Given the description of an element on the screen output the (x, y) to click on. 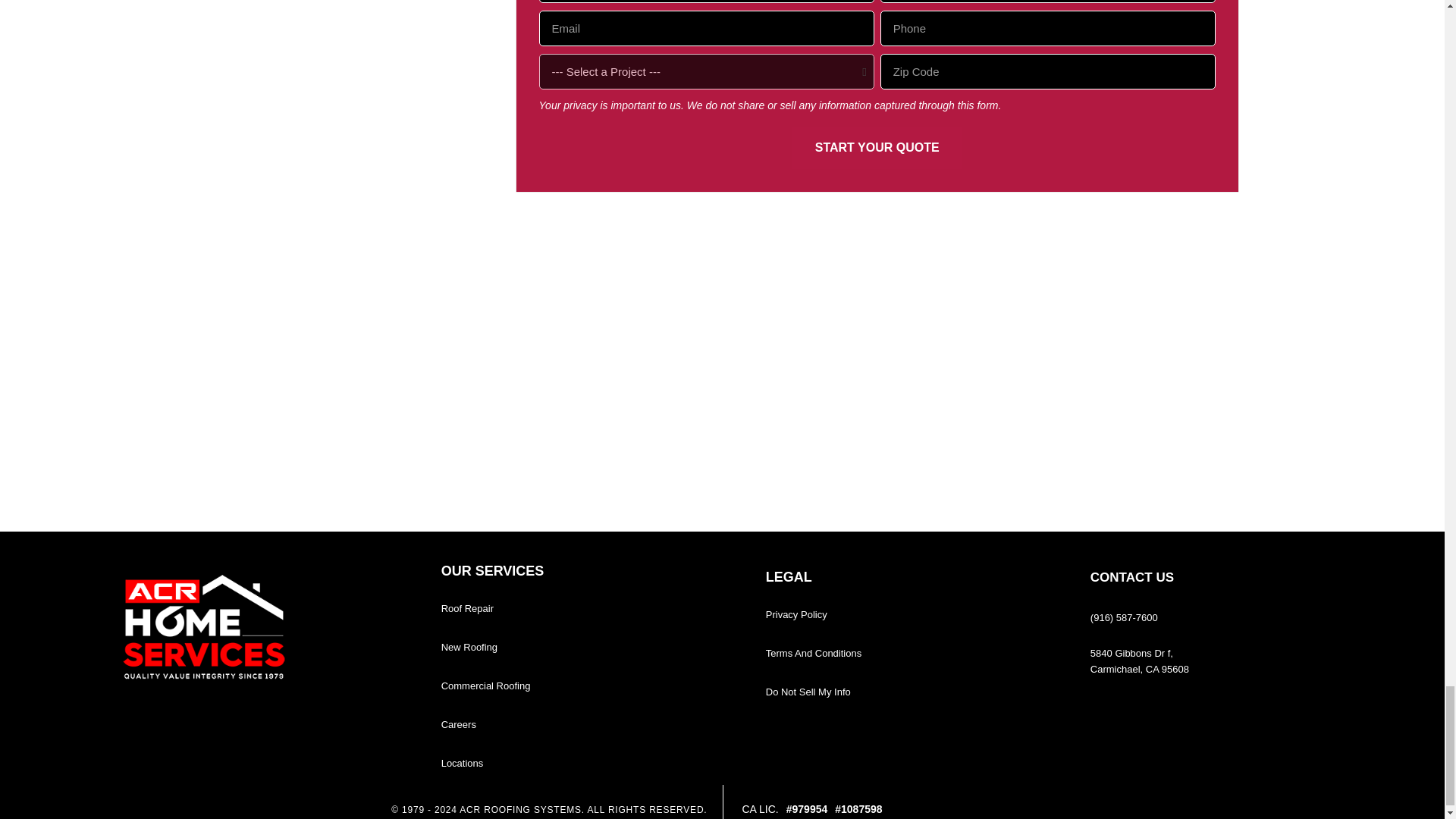
Roof Repair (467, 608)
OUR SERVICES (492, 570)
Locations (462, 763)
CONTACT US (1131, 576)
Terms And Conditions (813, 653)
Do Not Sell My Info (807, 691)
Privacy Policy (796, 614)
New Roofing (469, 646)
START YOUR QUOTE (877, 147)
Careers (458, 724)
